Given the description of an element on the screen output the (x, y) to click on. 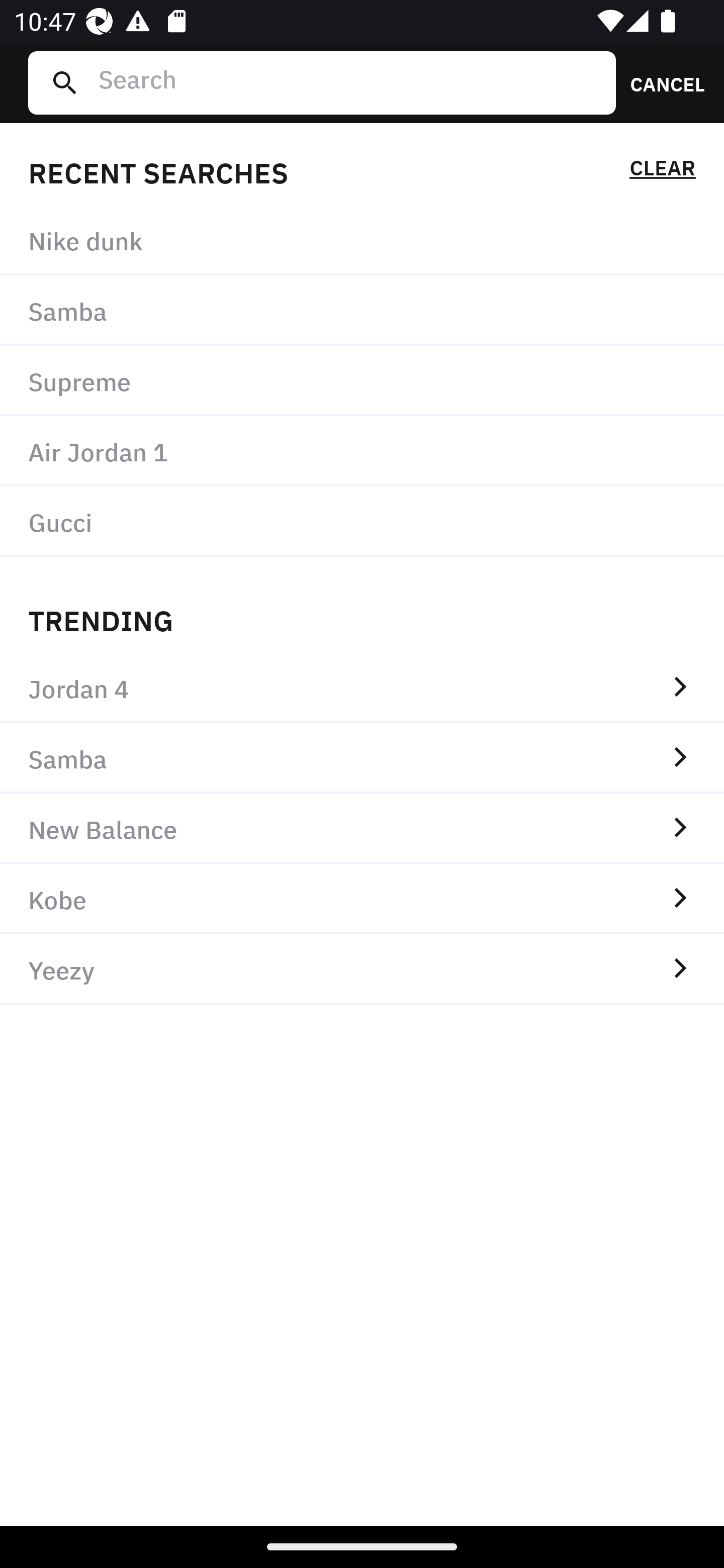
CANCEL (660, 82)
Search (349, 82)
CLEAR (662, 170)
Nike dunk (362, 240)
Samba (362, 310)
Supreme (362, 380)
Air Jordan 1 (362, 450)
Gucci (362, 521)
Jordan 4  (362, 687)
Samba  (362, 757)
New Balance  (362, 828)
Kobe  (362, 898)
Yeezy  (362, 969)
